Given the description of an element on the screen output the (x, y) to click on. 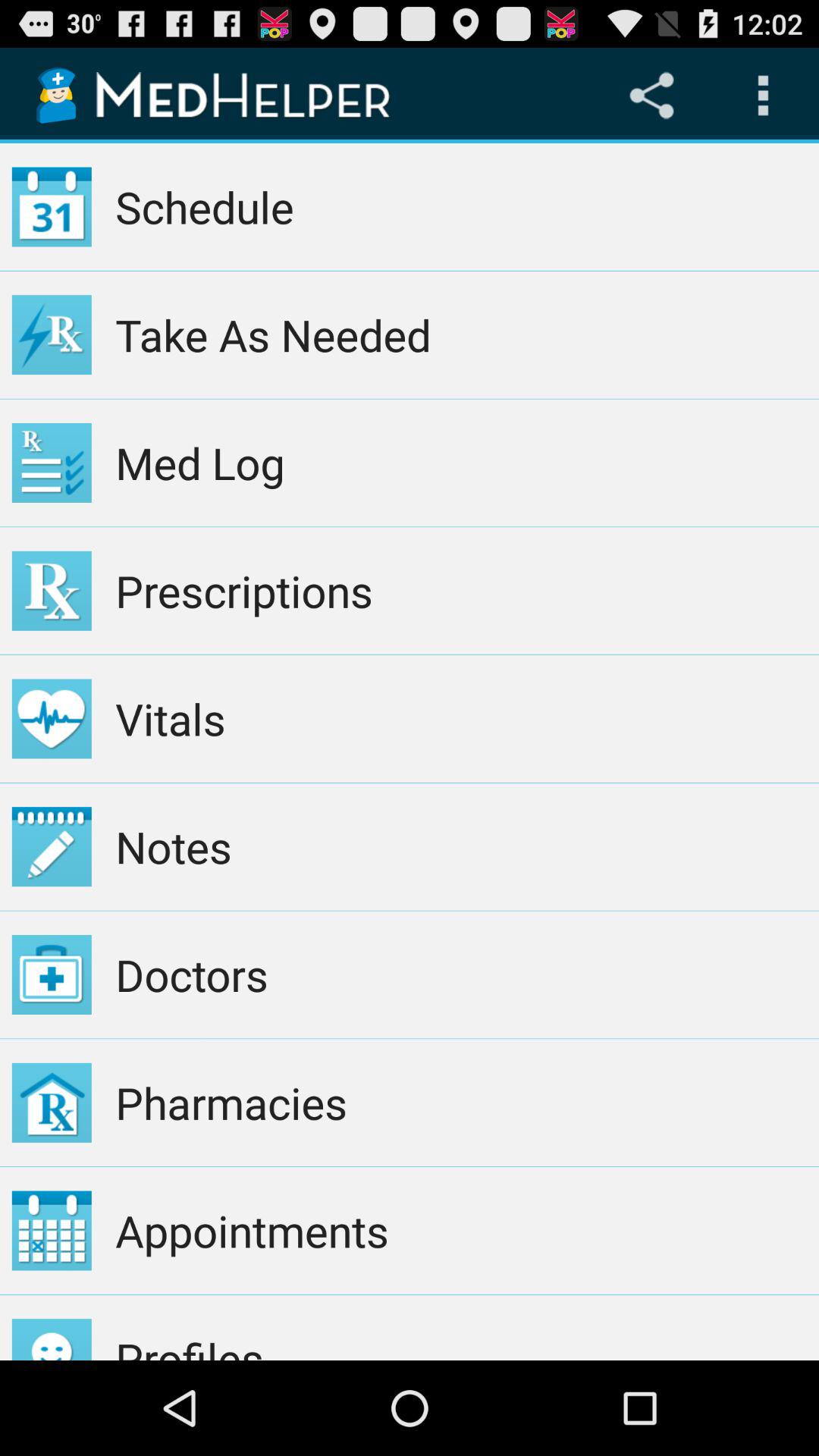
choose the icon above take as needed item (461, 206)
